Given the description of an element on the screen output the (x, y) to click on. 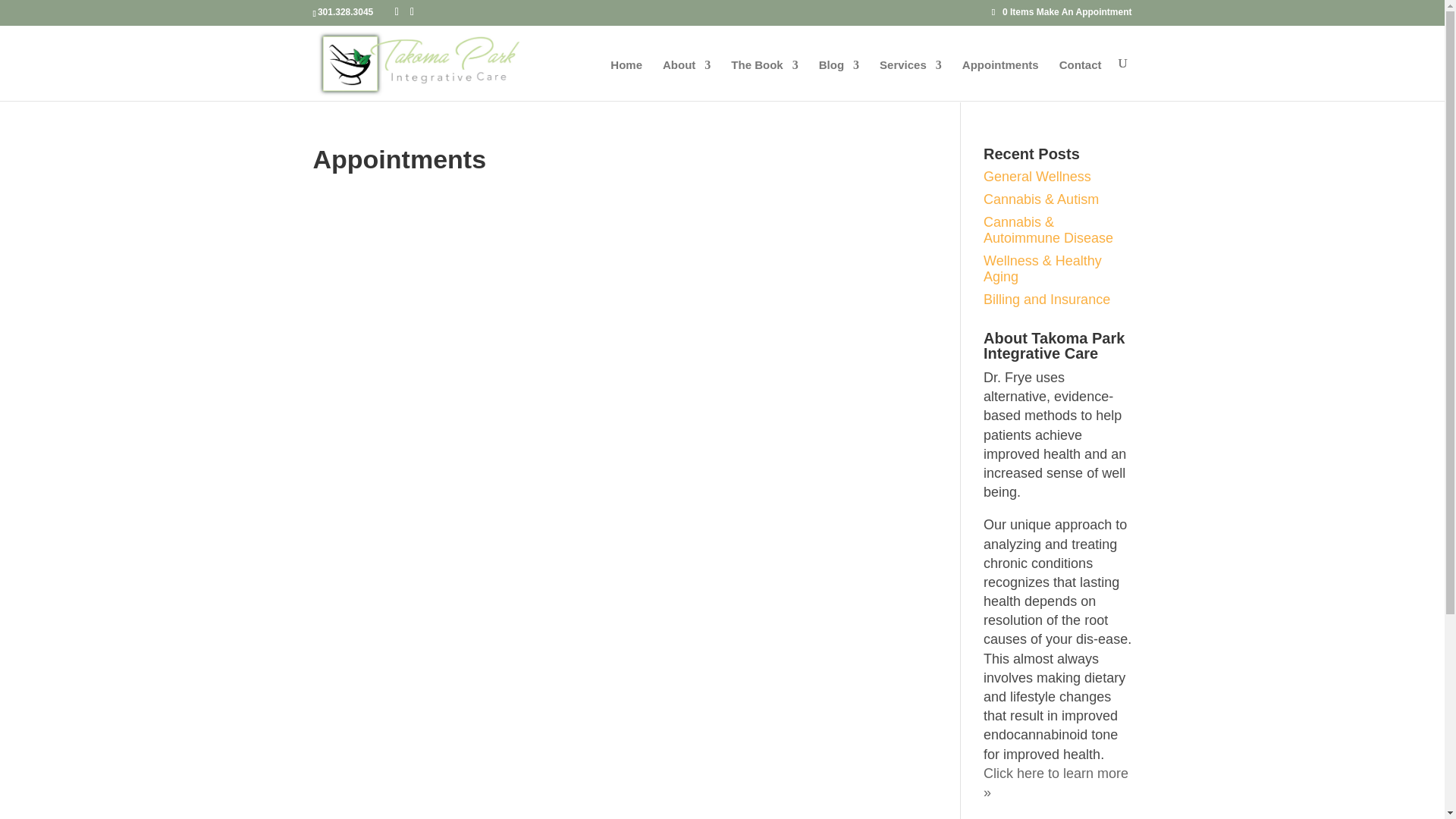
Appointments (1000, 79)
Contact (1080, 79)
About (686, 79)
Blog (838, 79)
0 Items (1013, 11)
Make An Appointment (1084, 11)
Services (910, 79)
The Book (763, 79)
